Given the description of an element on the screen output the (x, y) to click on. 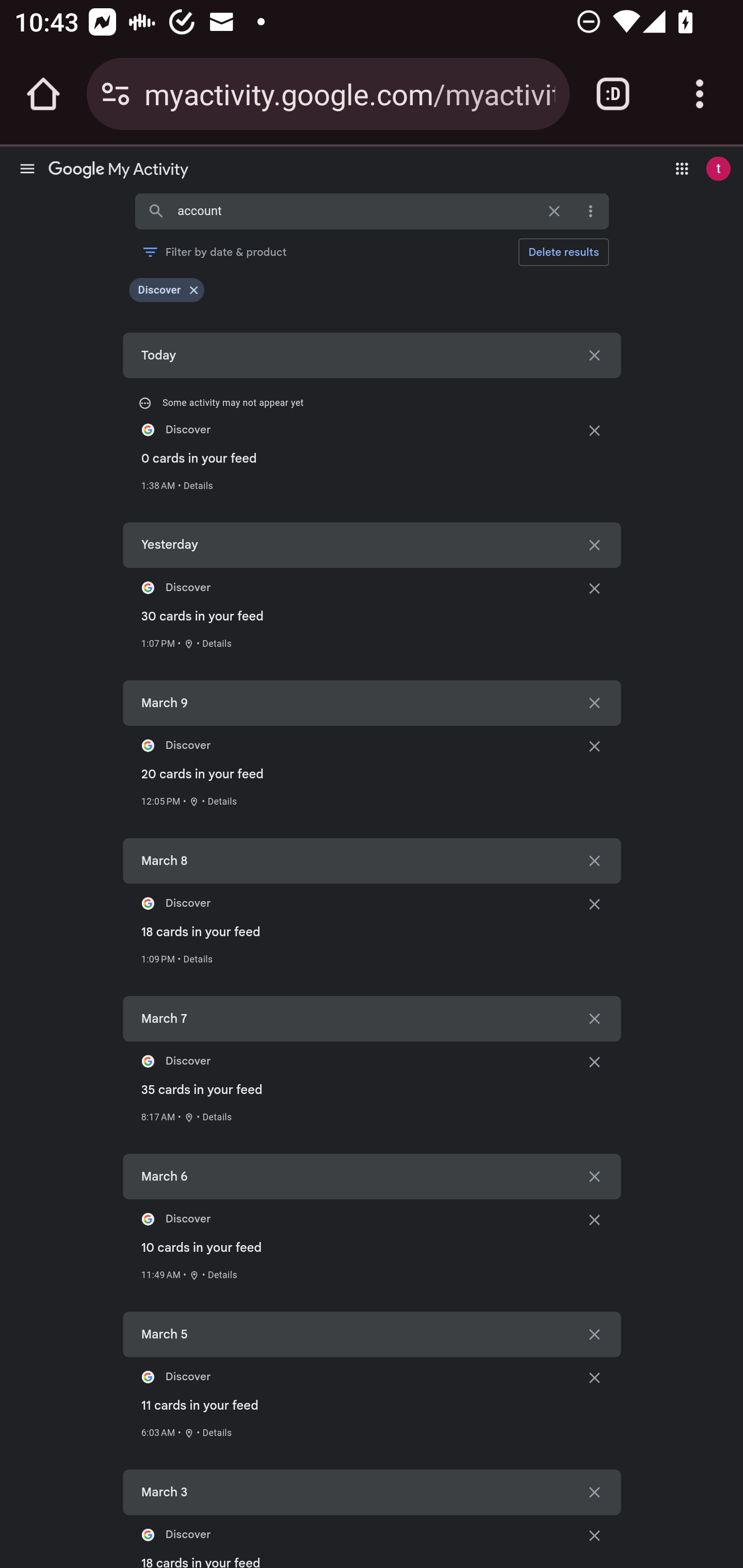
Open the home page (43, 93)
Connection is secure (115, 93)
Switch or close tabs (612, 93)
Customize and control Google Chrome (699, 93)
myactivity.google.com/myactivity?product=50&otzr=1 (349, 92)
Main menu (27, 168)
Google apps (681, 168)
My Activity (118, 170)
Search (155, 211)
Clear search (553, 211)
More menu options (590, 211)
account (356, 210)
Filter by date & product (213, 251)
Delete (563, 251)
Discover (159, 289)
Delete all activity from Today. (593, 355)
Delete activity item 0 cards in your feed (593, 430)
Open details of activity "0 cards in your feed" (197, 484)
Delete all activity from Yesterday. (593, 544)
Delete activity item 30 cards in your feed (593, 587)
Open details of activity "30 cards in your feed" (216, 643)
Delete all activity from March 9. (593, 703)
Delete activity item 20 cards in your feed (593, 746)
Open details of activity "20 cards in your feed" (221, 799)
Delete all activity from March 8. (593, 860)
Delete activity item 18 cards in your feed (593, 902)
Open details of activity "18 cards in your feed" (197, 958)
Delete all activity from March 7. (593, 1018)
Delete activity item 35 cards in your feed (593, 1061)
Open details of activity "35 cards in your feed" (216, 1116)
Delete all activity from March 6. (593, 1175)
Delete activity item 10 cards in your feed (593, 1219)
Open details of activity "10 cards in your feed" (221, 1273)
Delete all activity from March 5. (593, 1334)
Delete activity item 11 cards in your feed (593, 1376)
Open details of activity "11 cards in your feed" (216, 1431)
Delete all activity from March 3. (593, 1492)
Delete activity item 18 cards in your feed (593, 1534)
